Given the description of an element on the screen output the (x, y) to click on. 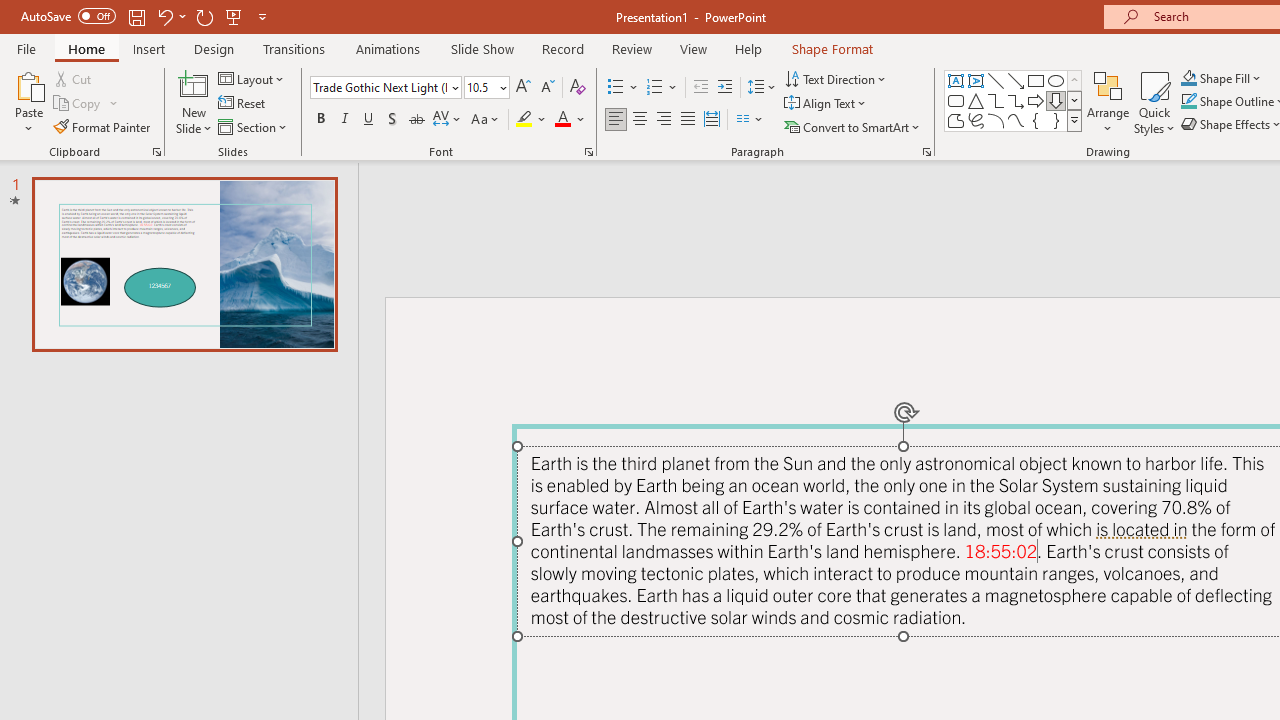
Shape Fill Aqua, Accent 2 (1188, 78)
